Given the description of an element on the screen output the (x, y) to click on. 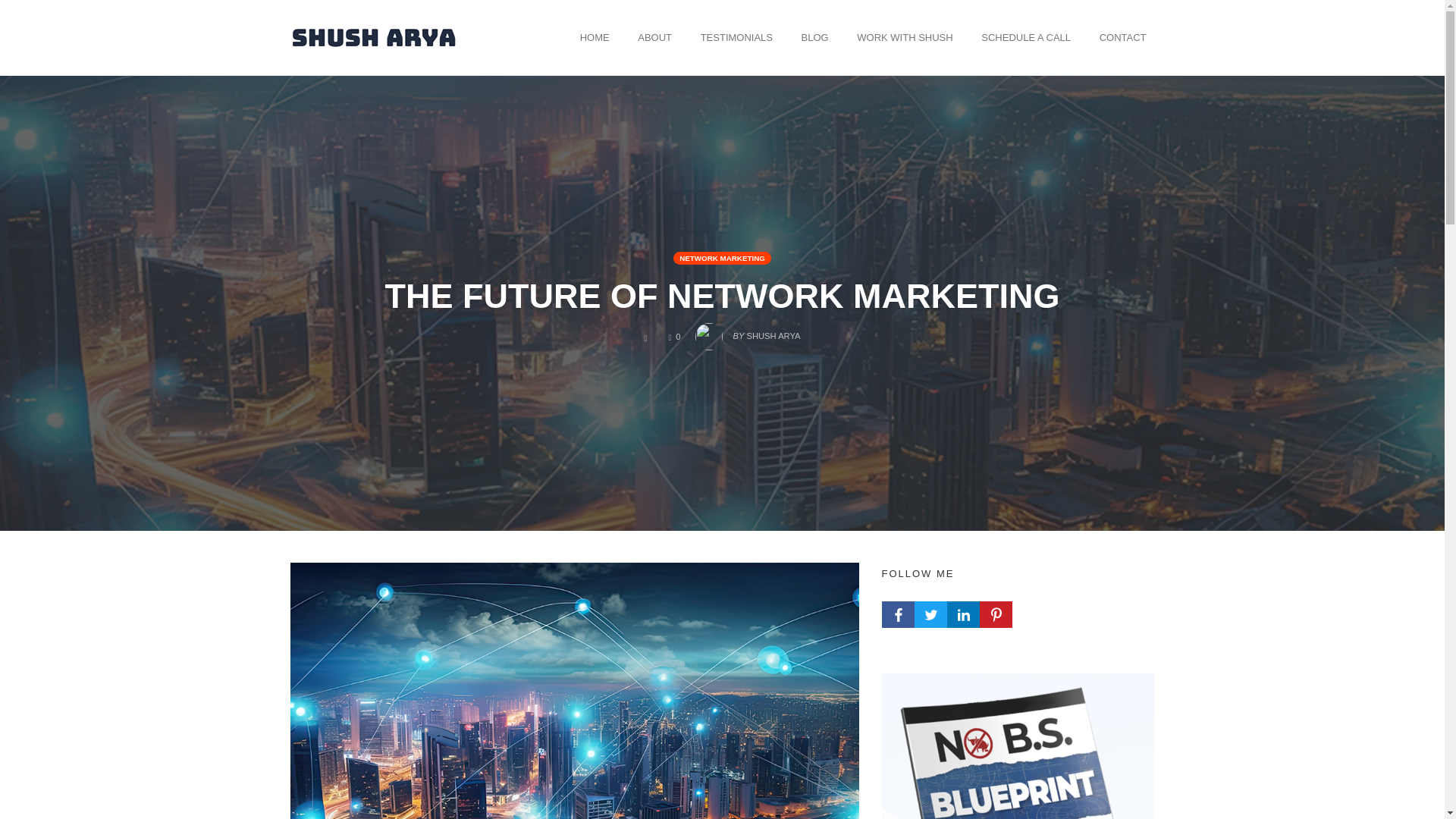
BY SHUSH ARYA (747, 331)
BLOG (815, 37)
CONTACT (1122, 37)
Shush Arya (373, 36)
NETWORK MARKETING (721, 257)
TESTIMONIALS (736, 37)
TWITTER PROFILE (930, 614)
SCHEDULE A CALL (1025, 37)
FACEBOOK PROFILE (897, 614)
WORK WITH SHUSH (904, 37)
